Given the description of an element on the screen output the (x, y) to click on. 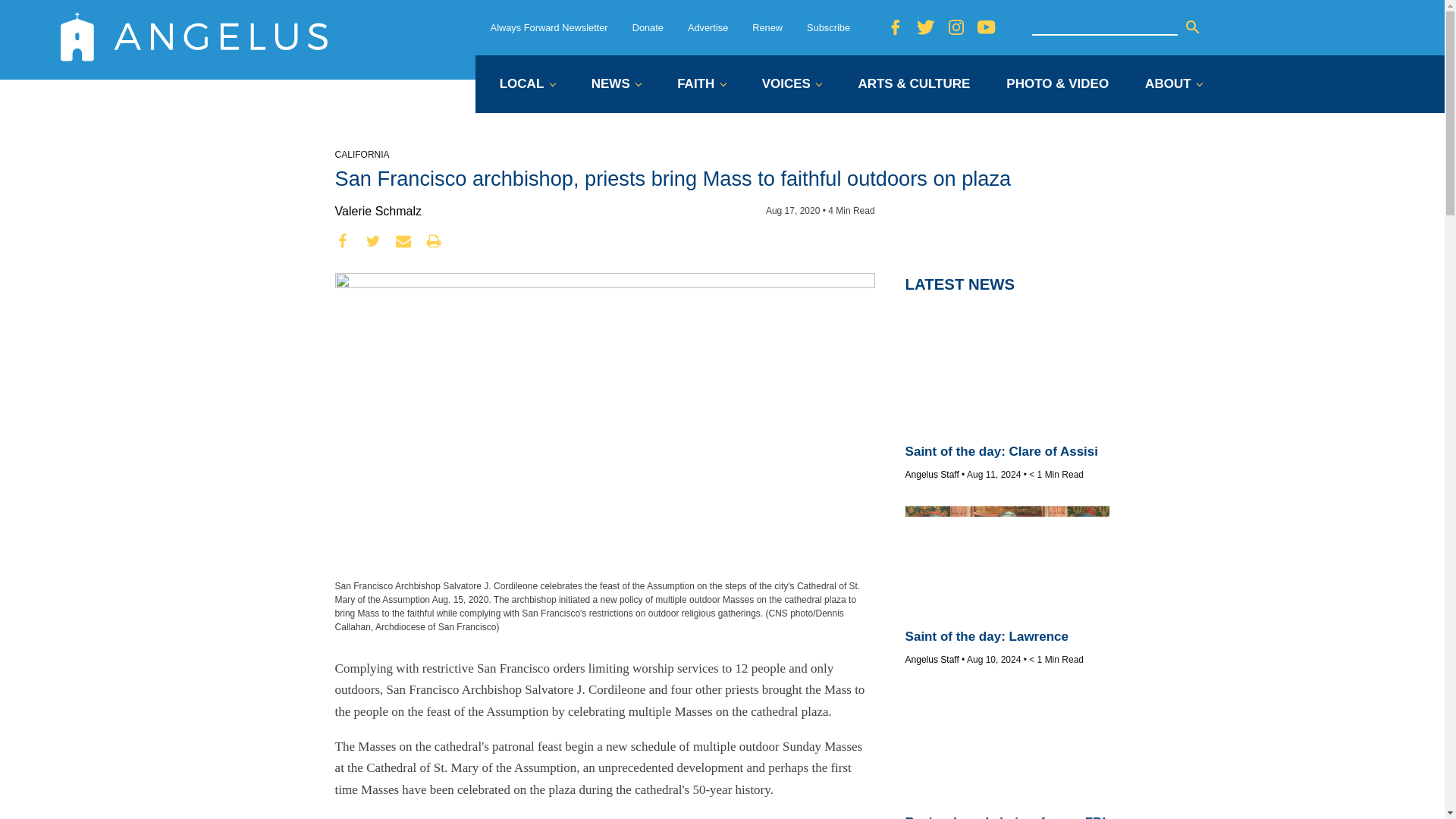
ABOUT (1173, 84)
Posts by Angelus Staff (932, 474)
Donate (647, 27)
Subscribe (828, 27)
facebook (342, 240)
envelope (403, 240)
Search (1192, 27)
Posts by Angelus Staff (932, 659)
print (433, 240)
Always Forward Newsletter (549, 27)
